Given the description of an element on the screen output the (x, y) to click on. 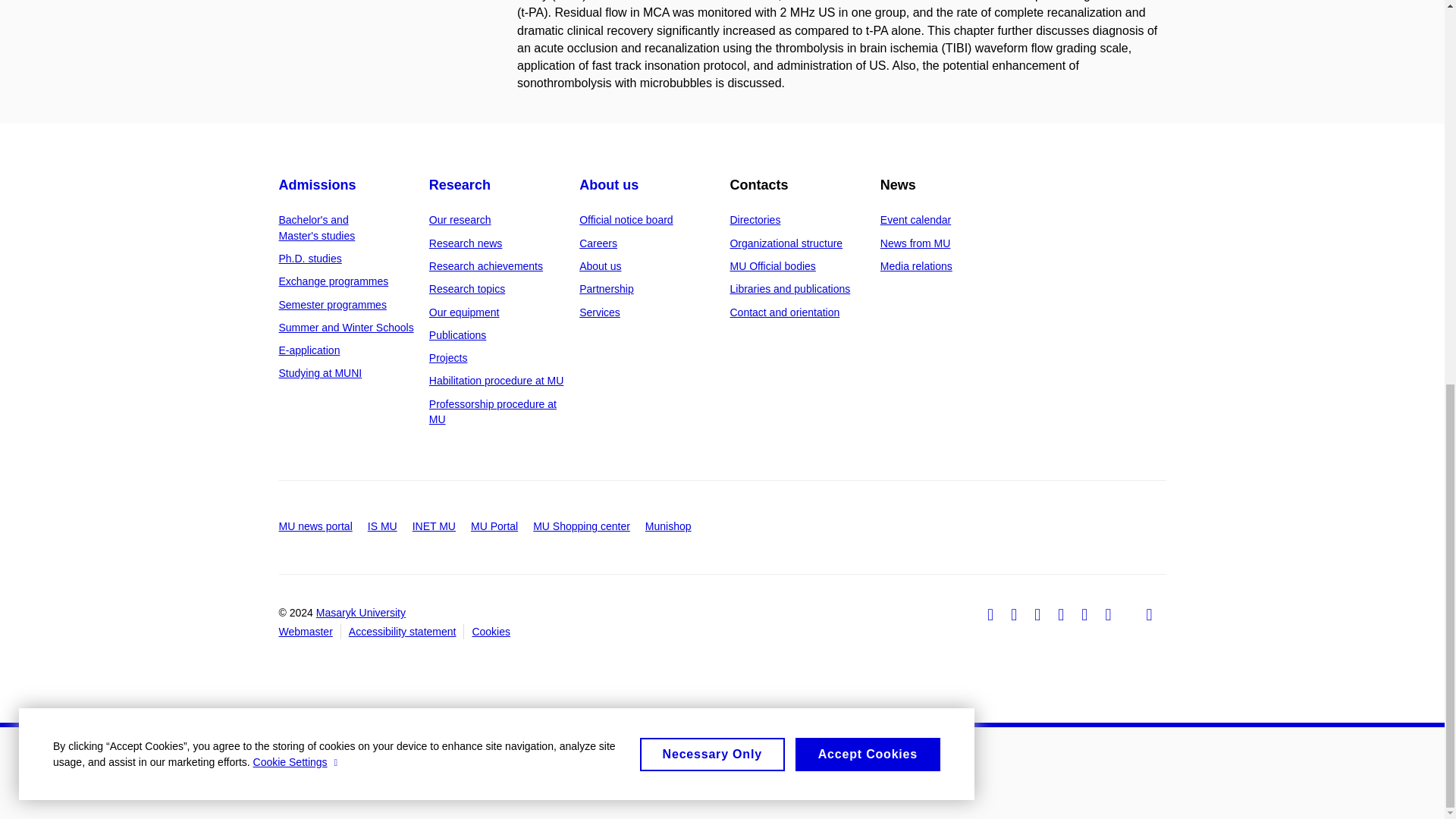
Studying at MUNI (320, 372)
Exchange programmes (333, 281)
Research topics (467, 288)
Semester programmes (333, 304)
Our research (460, 219)
Projects (448, 357)
Summer and Winter Schools (346, 327)
Research news (465, 243)
Our equipment (464, 312)
E-application (309, 349)
